Given the description of an element on the screen output the (x, y) to click on. 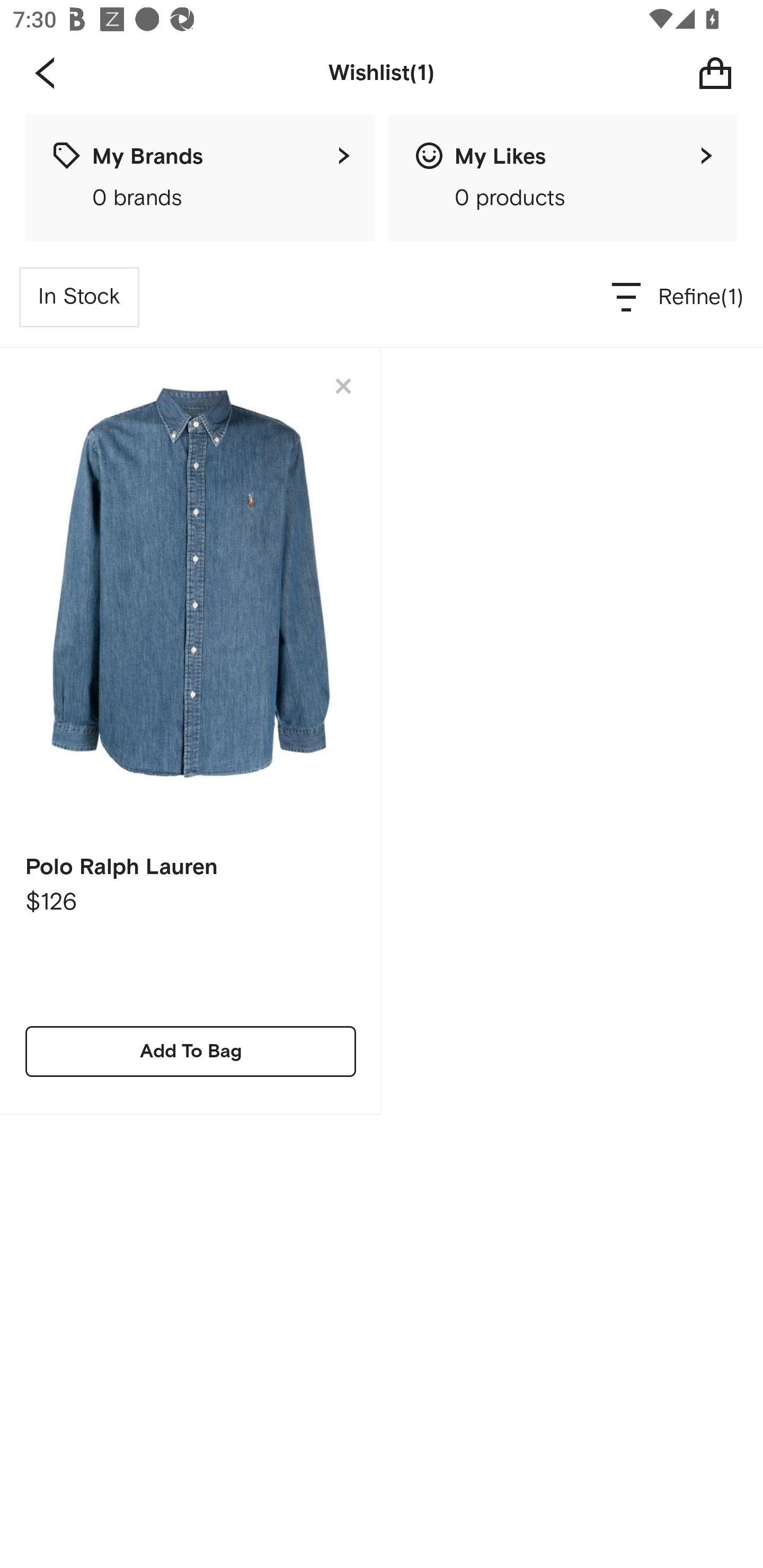
My Brands 0 brands (200, 177)
My Likes 0 products (562, 177)
In Stock (79, 296)
Refine(1) (678, 296)
Polo Ralph Lauren $126 Add To Bag (190, 731)
Add To Bag (190, 1050)
